Given the description of an element on the screen output the (x, y) to click on. 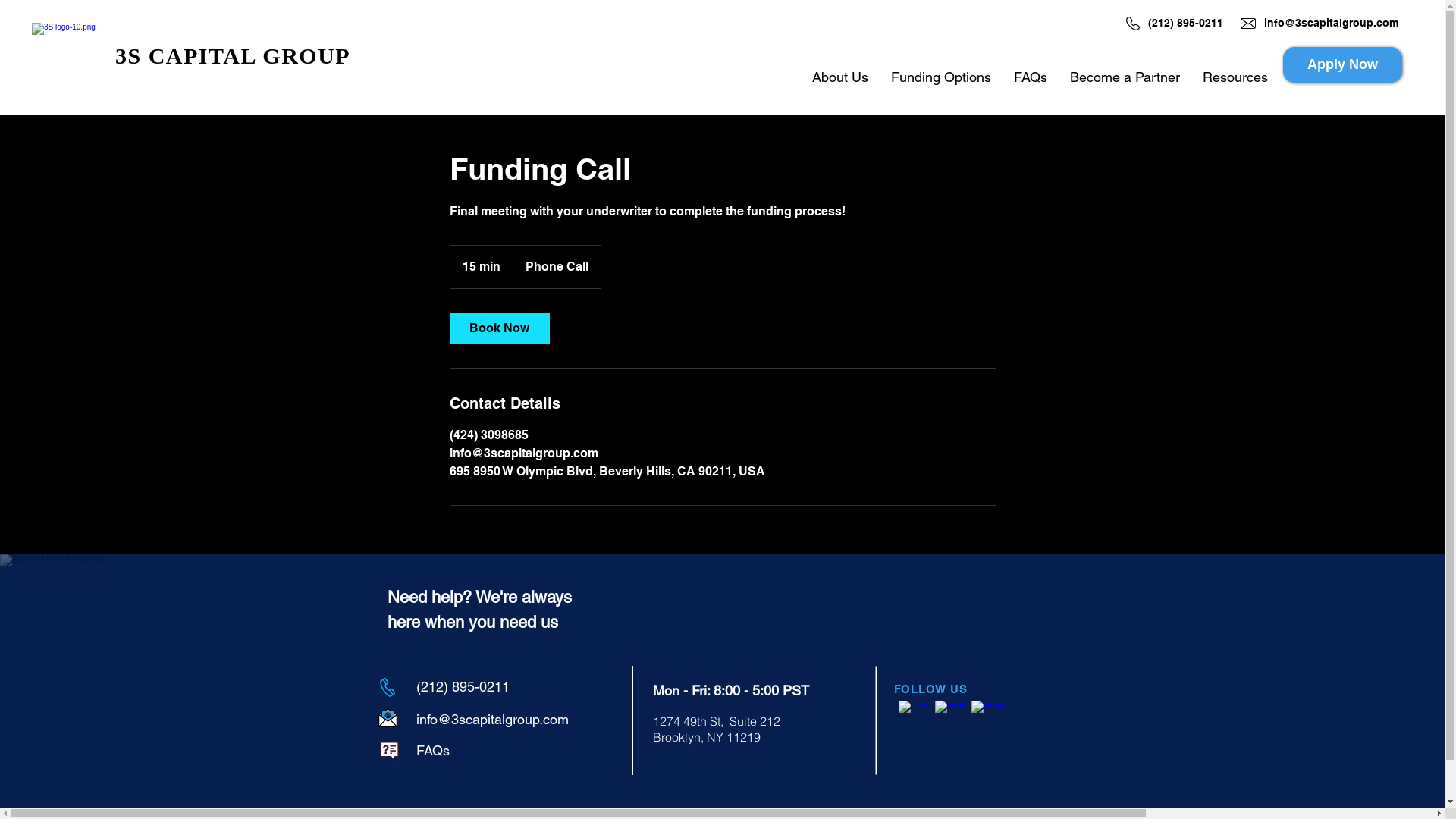
FAQs Element type: text (1030, 77)
Become a Partner Element type: text (1124, 77)
3S CAPITAL GROUP Element type: text (232, 55)
info@3scapitalgroup.com Element type: text (491, 719)
info@3scapitalgroup.com Element type: text (1331, 22)
Funding Options Element type: text (940, 77)
About Us Element type: text (839, 77)
Book Now Element type: text (498, 328)
Apply Now Element type: text (1342, 64)
FAQs Element type: text (431, 750)
